Given the description of an element on the screen output the (x, y) to click on. 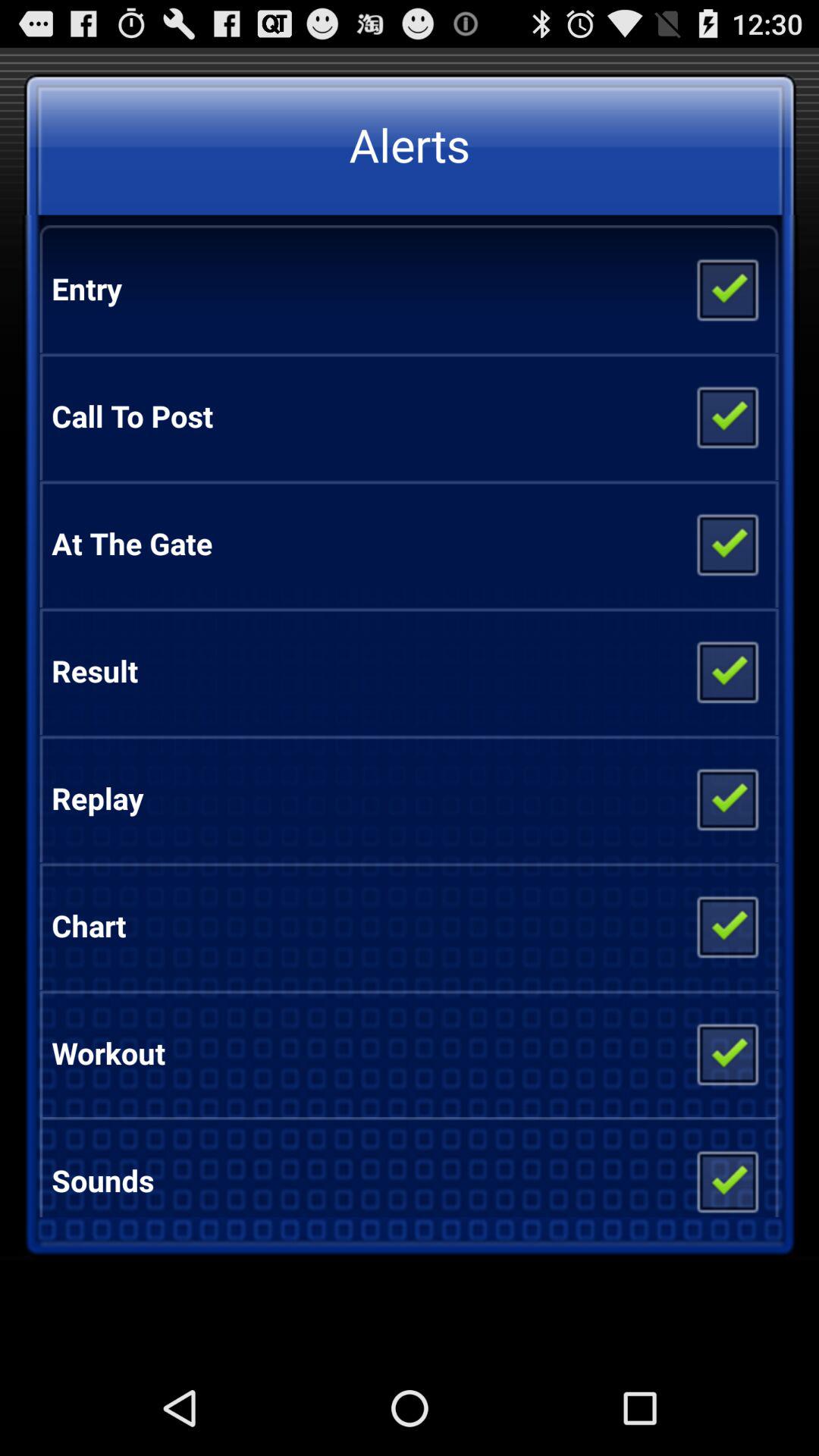
choose the app next to the entry icon (726, 288)
